Given the description of an element on the screen output the (x, y) to click on. 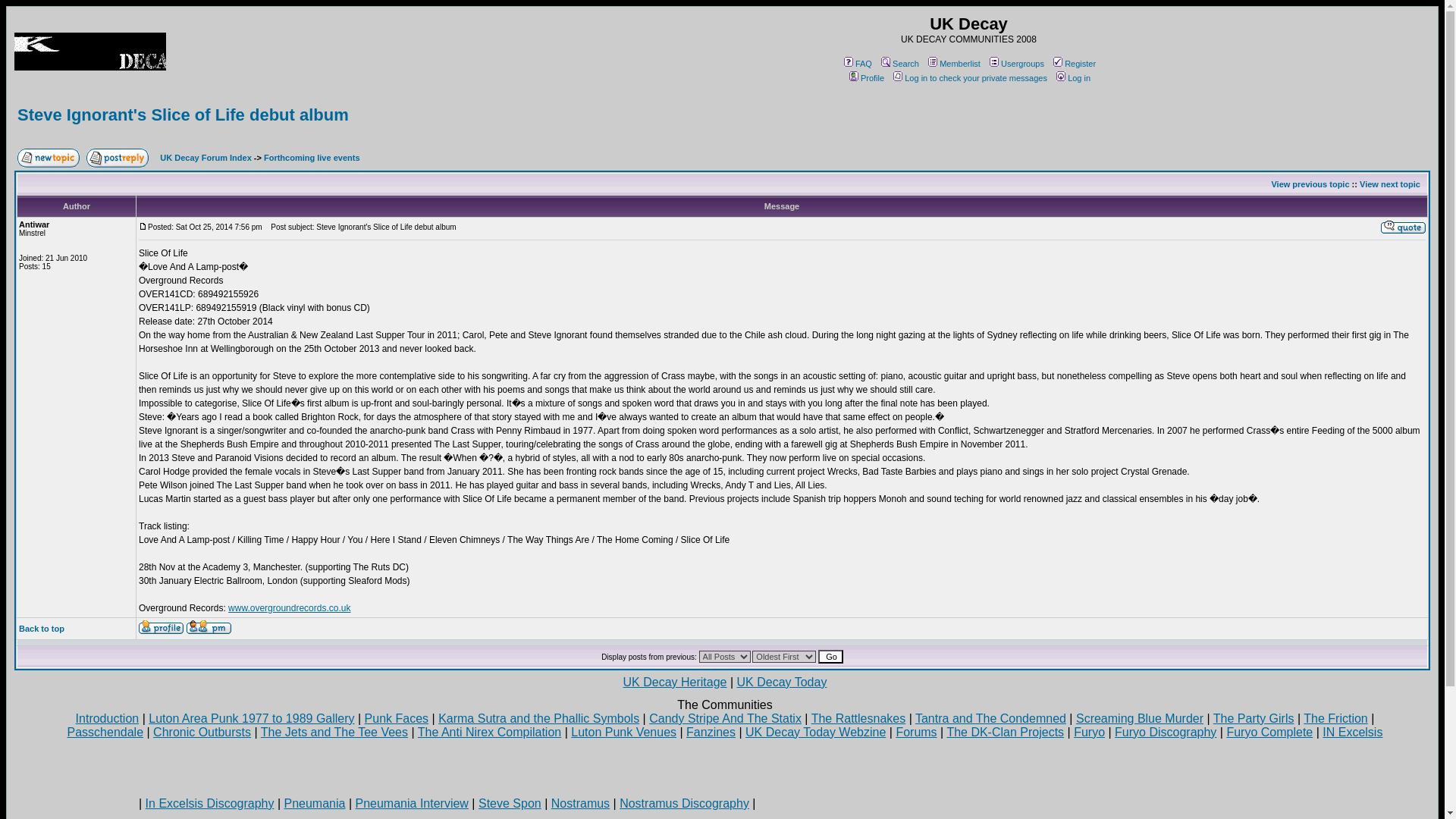
UK Decay Forum Index (205, 157)
Screaming Blue Murder (1139, 717)
Log in (1072, 77)
Log in to check your private messages (968, 77)
View next topic (1390, 184)
www.overgroundrecords.co.uk (289, 607)
Chronic Outbursts (201, 731)
The Friction (1335, 717)
Usergroups (1015, 62)
Candy Stripe And The Statix (725, 717)
The Party Girls (1253, 717)
Register (1073, 62)
Back to top (41, 628)
Memberlist (952, 62)
Forthcoming live events (311, 157)
